Given the description of an element on the screen output the (x, y) to click on. 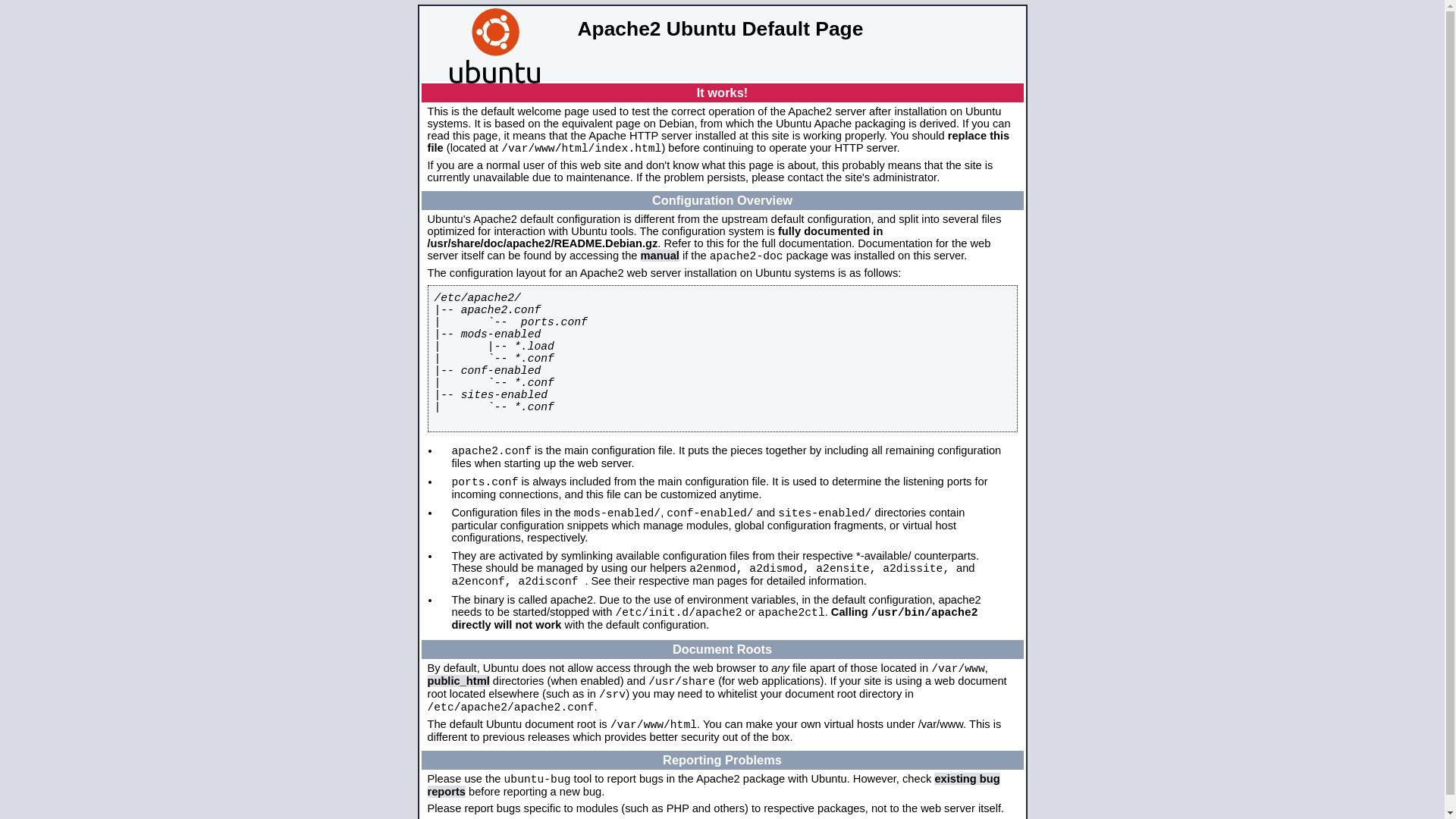
public_html Element type: text (458, 680)
manual Element type: text (659, 255)
existing bug reports Element type: text (713, 784)
